Given the description of an element on the screen output the (x, y) to click on. 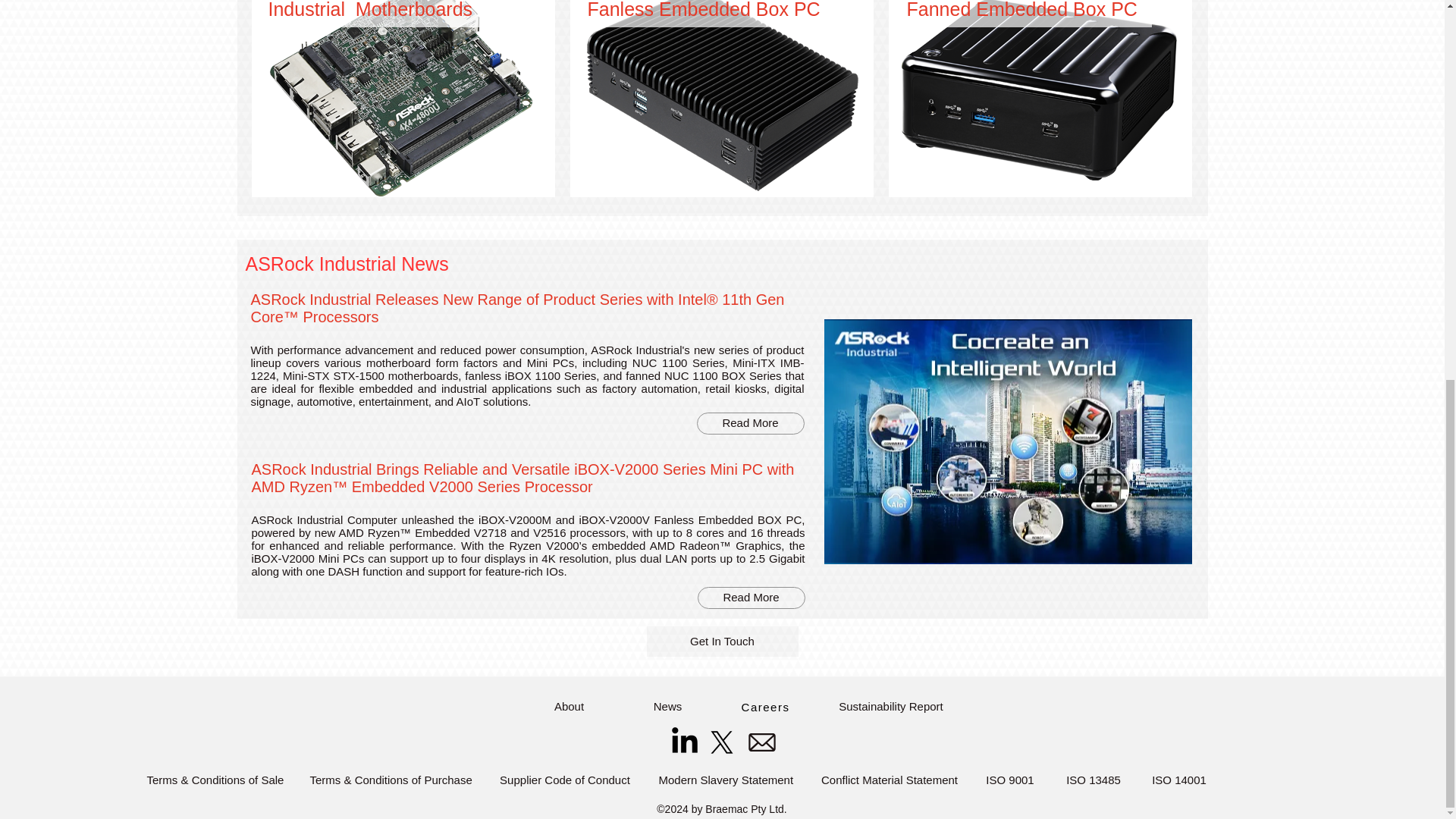
Fanned Embedded Box PC (1022, 9)
Get In Touch (721, 641)
Read More (749, 423)
Fanless Embedded Box PC (702, 9)
Read More (751, 598)
Industrial  Motherboards (370, 9)
